Given the description of an element on the screen output the (x, y) to click on. 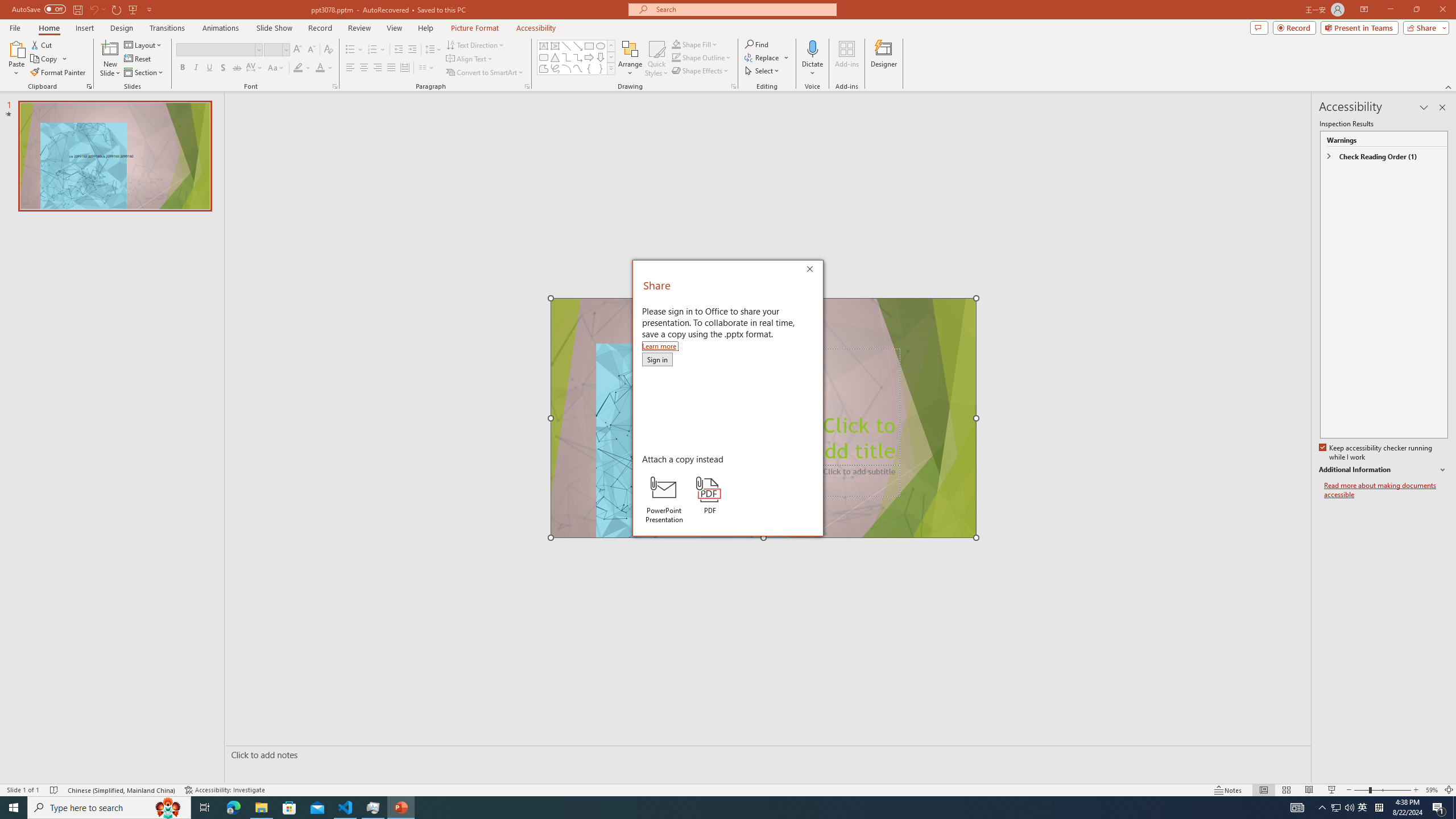
Shape Effects (700, 69)
Running applications (707, 807)
Read more about making documents accessible (1385, 489)
Microsoft Edge (233, 807)
